Given the description of an element on the screen output the (x, y) to click on. 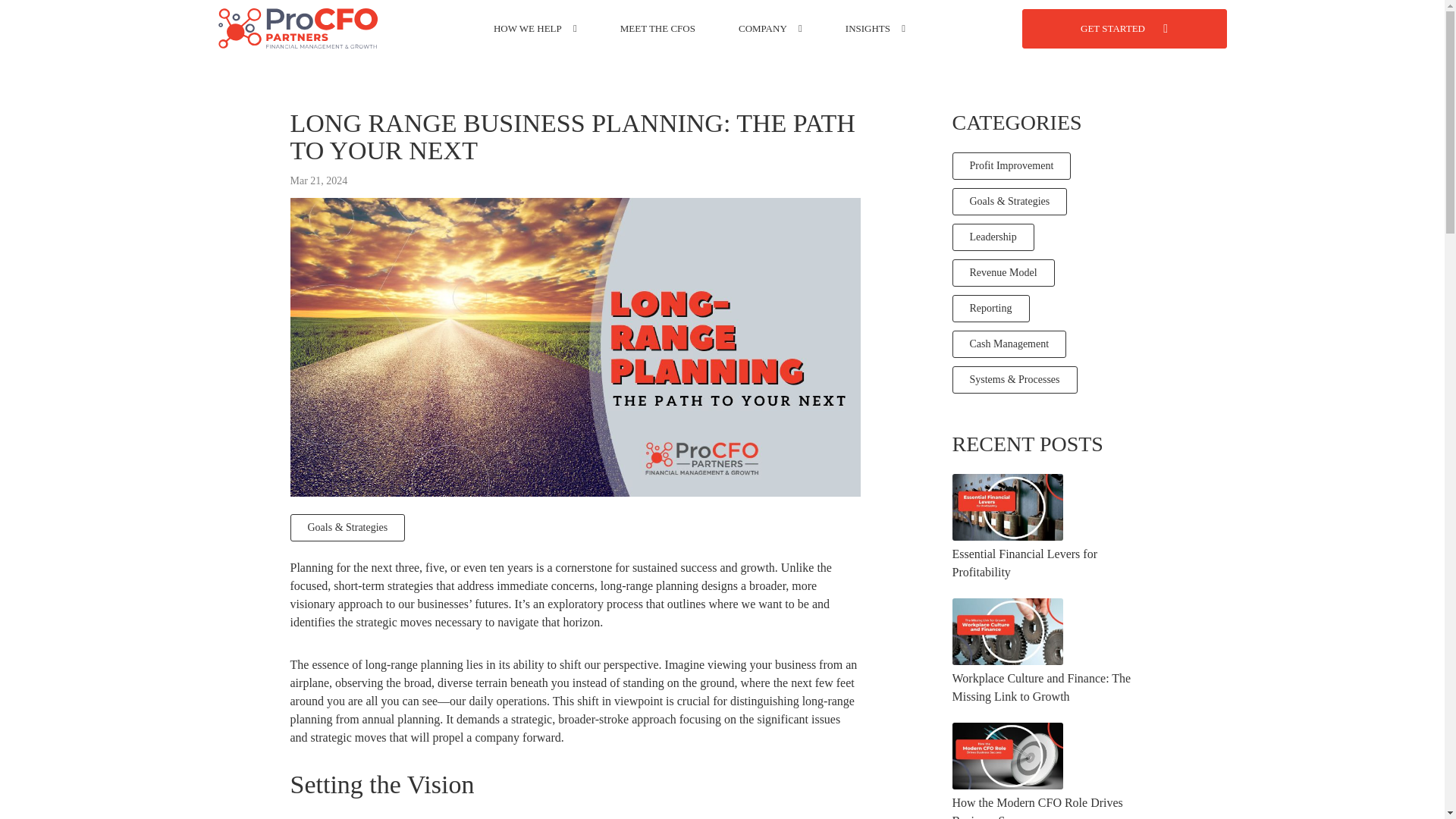
Leadership (992, 236)
GET STARTED (1124, 28)
Reporting (990, 308)
Cash Management (1009, 343)
Revenue Model (1003, 272)
HOW WE HELP (527, 28)
Profit Improvement (1011, 165)
MEET THE CFOS (657, 28)
